Given the description of an element on the screen output the (x, y) to click on. 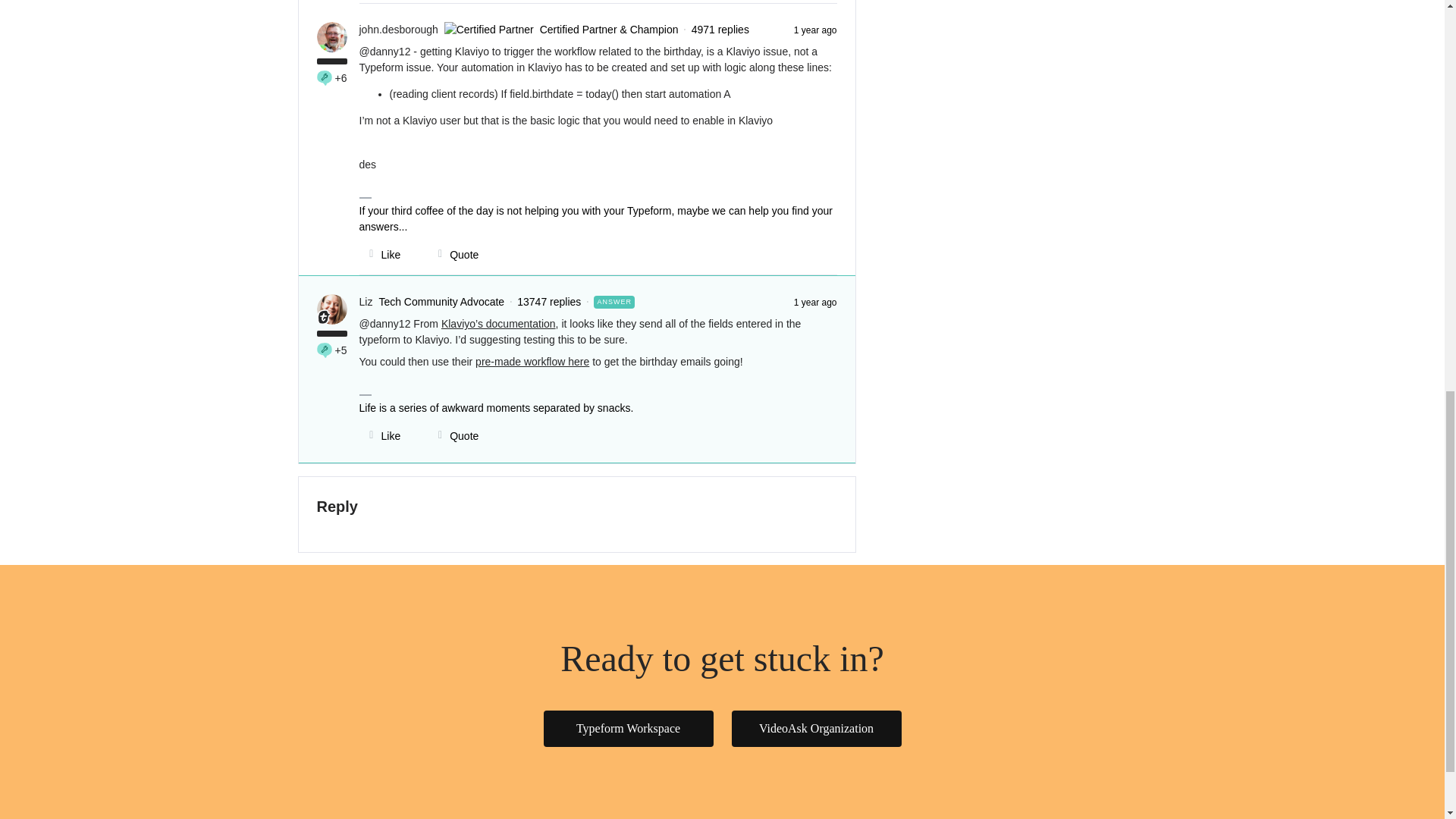
Like (380, 254)
1 year ago (815, 29)
Engineer (324, 77)
Quote (453, 254)
pre-made workflow here (532, 361)
Engineer (324, 350)
Like (380, 435)
john.desborough (398, 29)
Quote (453, 435)
1 year ago (815, 301)
john.desborough (398, 29)
Community Team (323, 316)
